Given the description of an element on the screen output the (x, y) to click on. 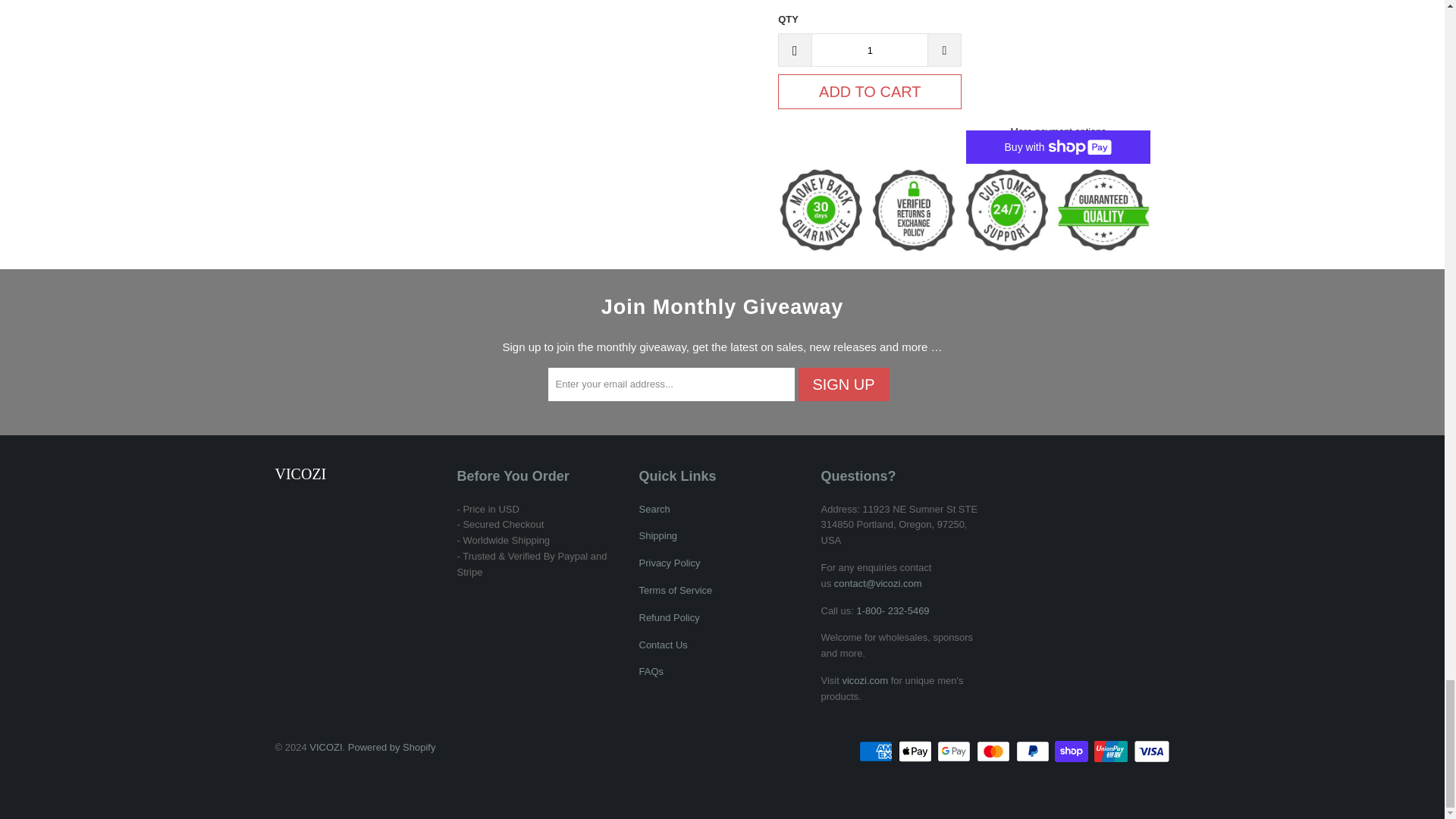
Visa (1150, 751)
Google Pay (955, 751)
Shop Pay (1072, 751)
Contact Us (877, 583)
Union Pay (1112, 751)
PayPal (1034, 751)
Apple Pay (916, 751)
Sign Up (842, 384)
1 (869, 49)
Mastercard (994, 751)
American Express (877, 751)
